Given the description of an element on the screen output the (x, y) to click on. 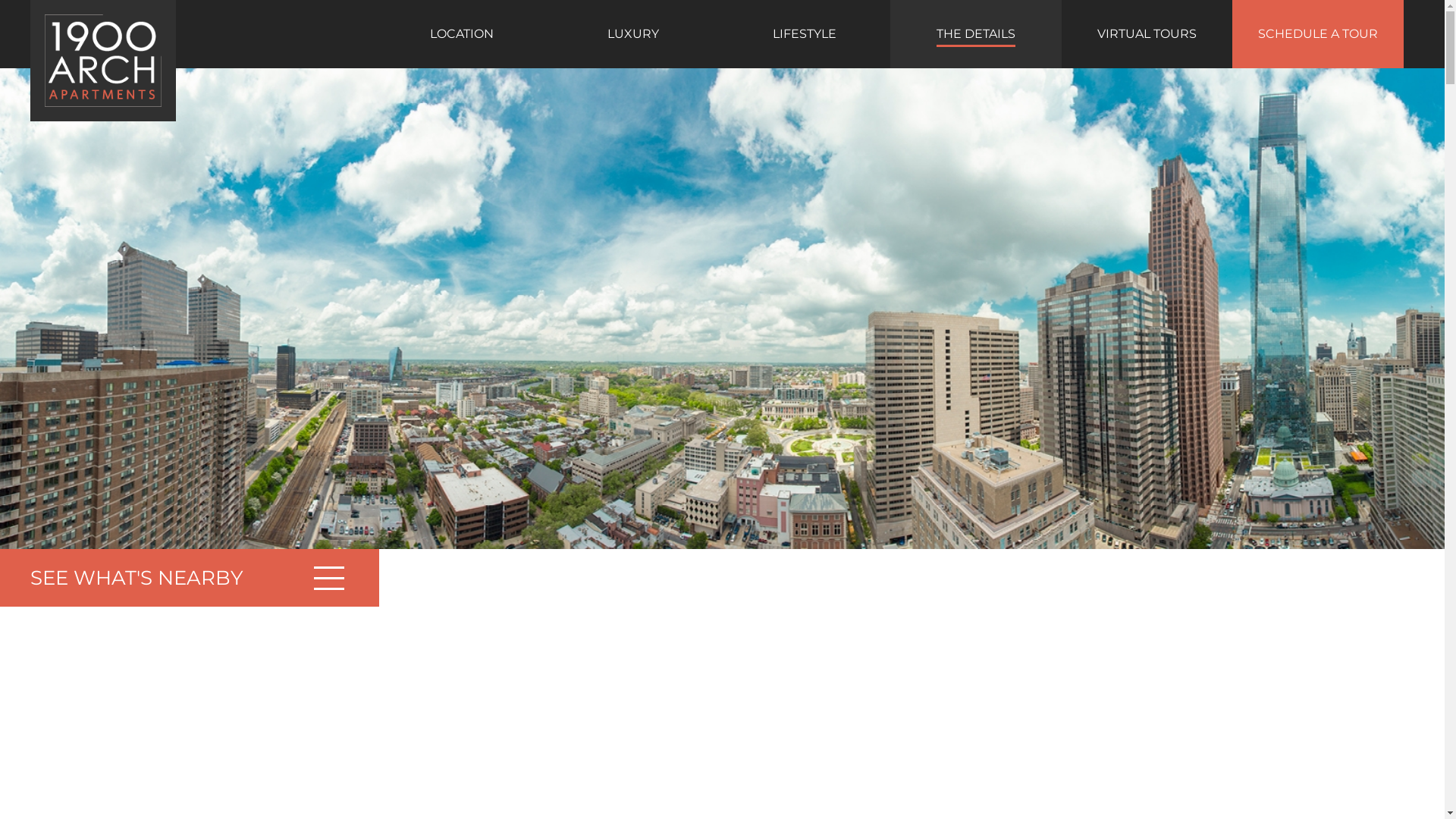
HOME Element type: text (395, 26)
THE DETAILS Element type: text (975, 34)
SCHEDULE A TOUR Element type: text (1317, 34)
LIFESTYLE Element type: text (804, 34)
VIRTUAL TOURS Element type: text (1147, 34)
LUXURY Element type: text (632, 34)
LOCATION Element type: text (461, 34)
